Given the description of an element on the screen output the (x, y) to click on. 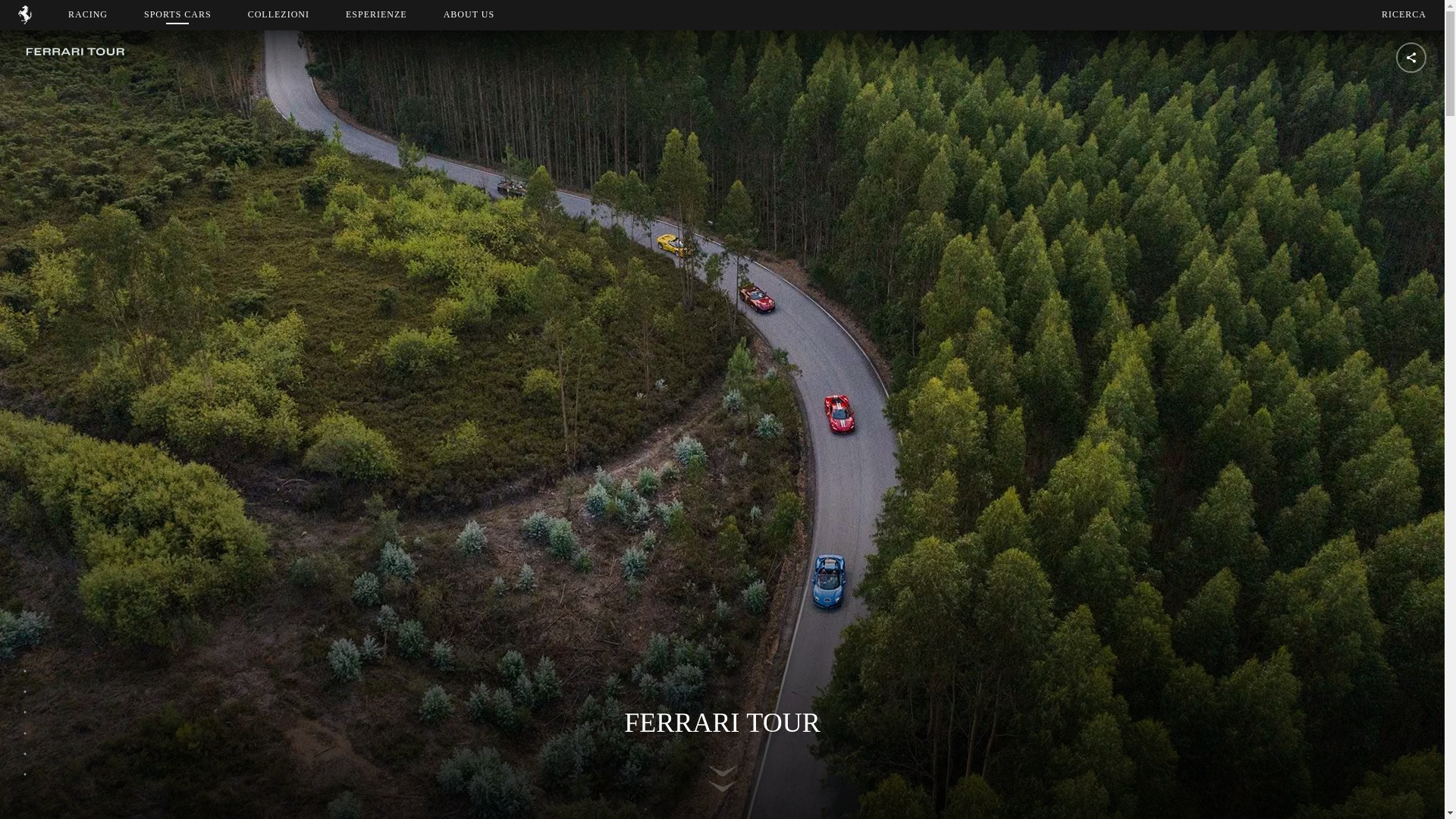
Ferrari logo (24, 19)
COLLEZIONI (277, 14)
SPORTS CARS (493, 14)
ABOUT US (177, 14)
RICERCA (469, 14)
ESPERIENZE (1403, 14)
RACING (376, 14)
